Given the description of an element on the screen output the (x, y) to click on. 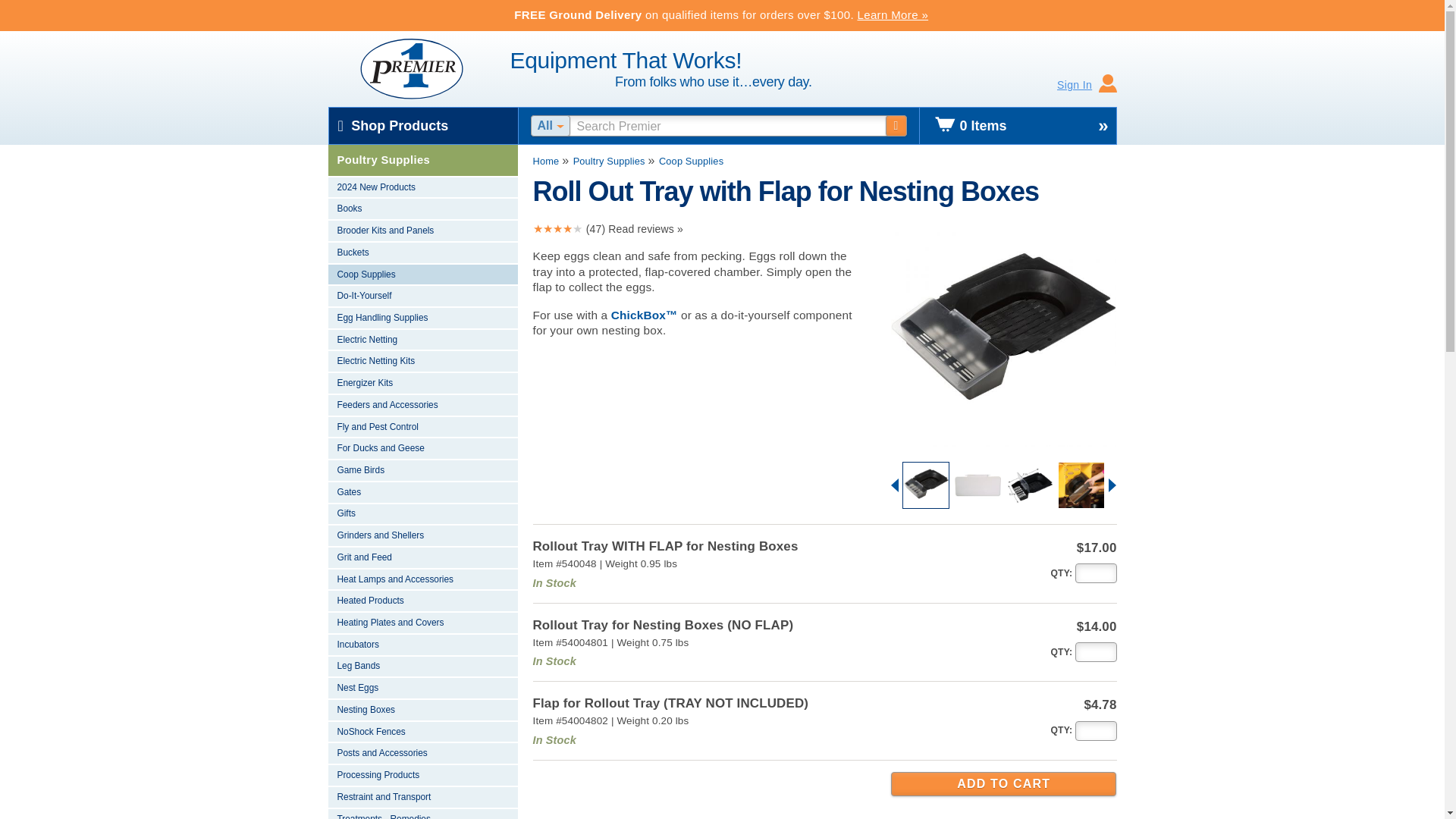
Poultry Supplies (421, 160)
Grit and Feed (421, 558)
quantity (1059, 652)
Leg Bands (421, 667)
Gifts (421, 515)
Heated Products (421, 601)
NoShock Fences (421, 732)
0 Items (1017, 125)
Incubators (421, 645)
Brooder Kits and Panels (421, 231)
Books (421, 209)
Shop Products (423, 125)
Posts and Accessories (421, 753)
Feeders and Accessories (421, 405)
Do-It-Yourself (421, 296)
